Given the description of an element on the screen output the (x, y) to click on. 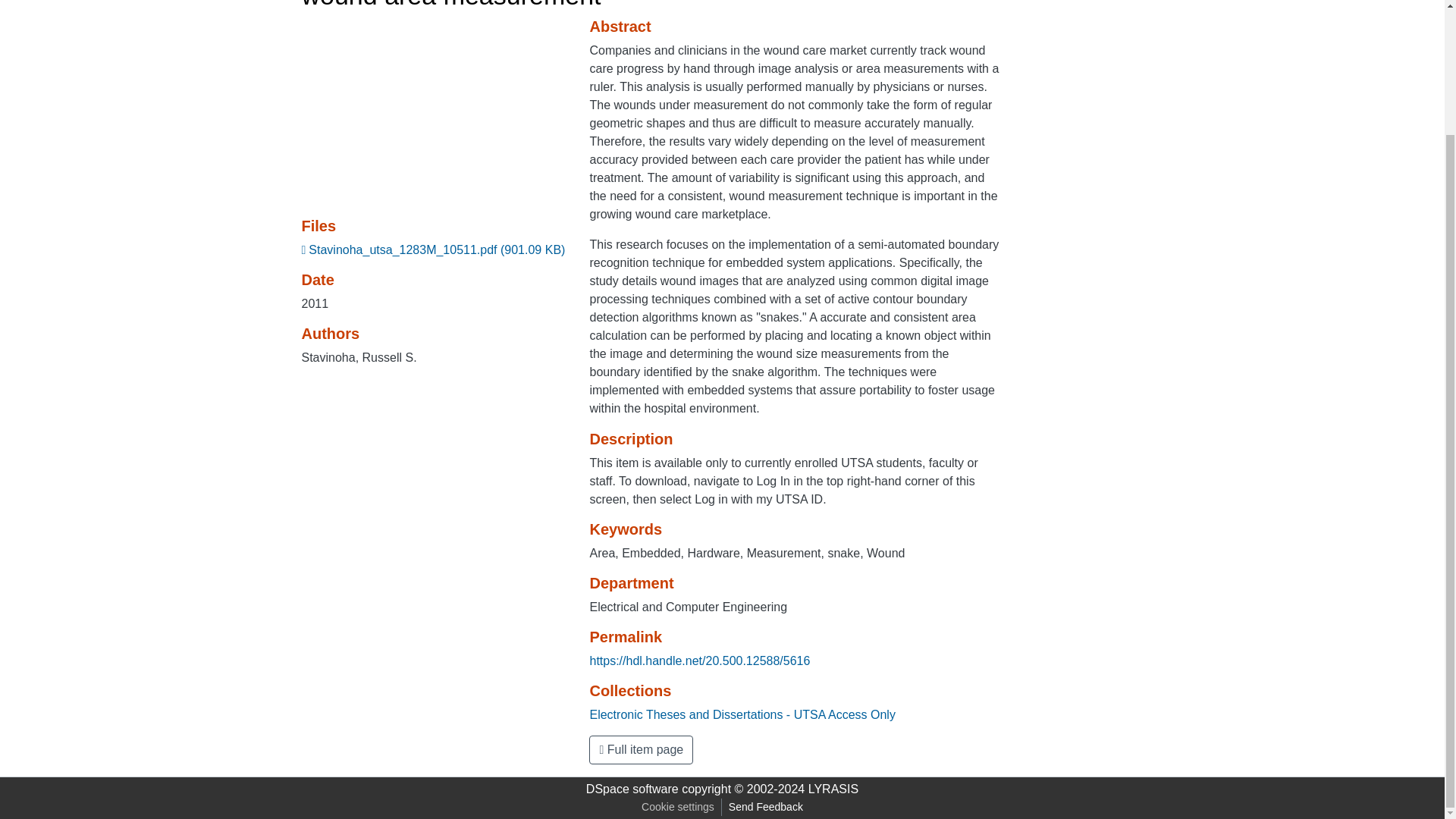
Full item page (641, 749)
Send Feedback (765, 806)
DSpace software (632, 788)
Cookie settings (677, 806)
LYRASIS (833, 788)
Electronic Theses and Dissertations - UTSA Access Only (742, 714)
